Given the description of an element on the screen output the (x, y) to click on. 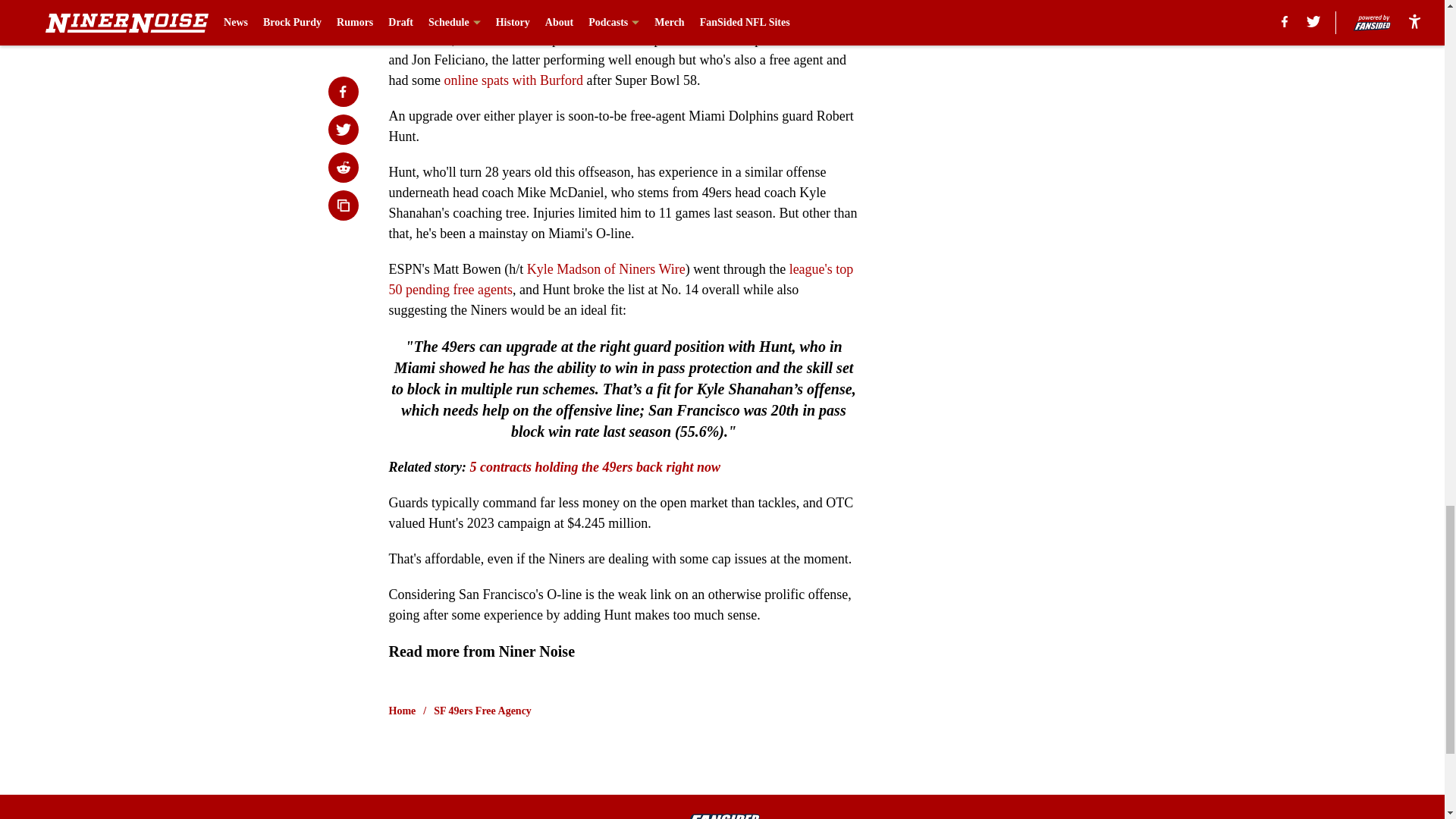
Kyle Madson of Niners Wire (606, 268)
online spats with Burford (513, 79)
league's top 50 pending free agents (620, 279)
5 contracts holding the 49ers back right now (594, 467)
SF 49ers Free Agency (482, 711)
Home (401, 711)
